Given the description of an element on the screen output the (x, y) to click on. 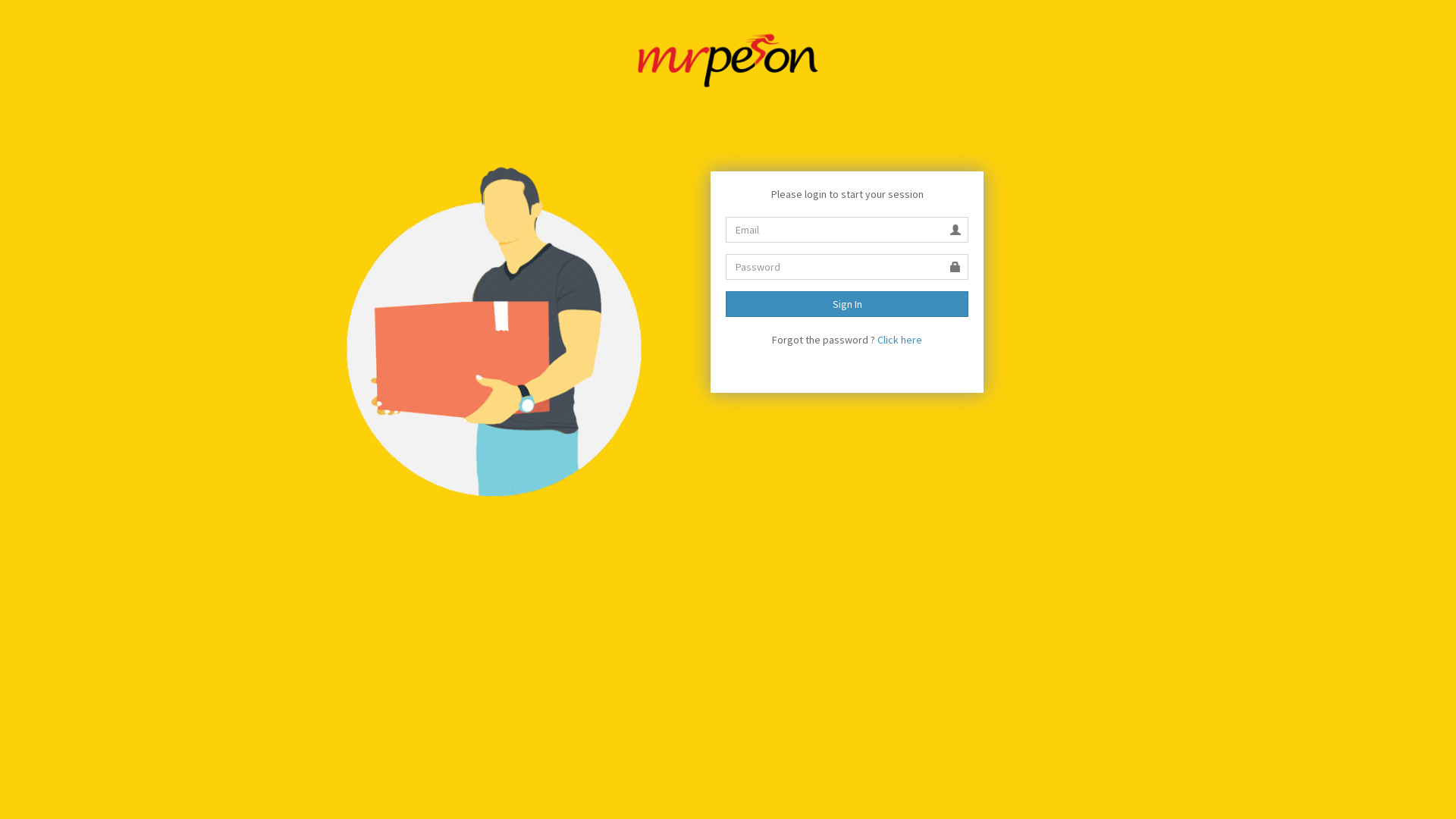
Click here Element type: text (899, 339)
Sign In Element type: text (846, 303)
